Given the description of an element on the screen output the (x, y) to click on. 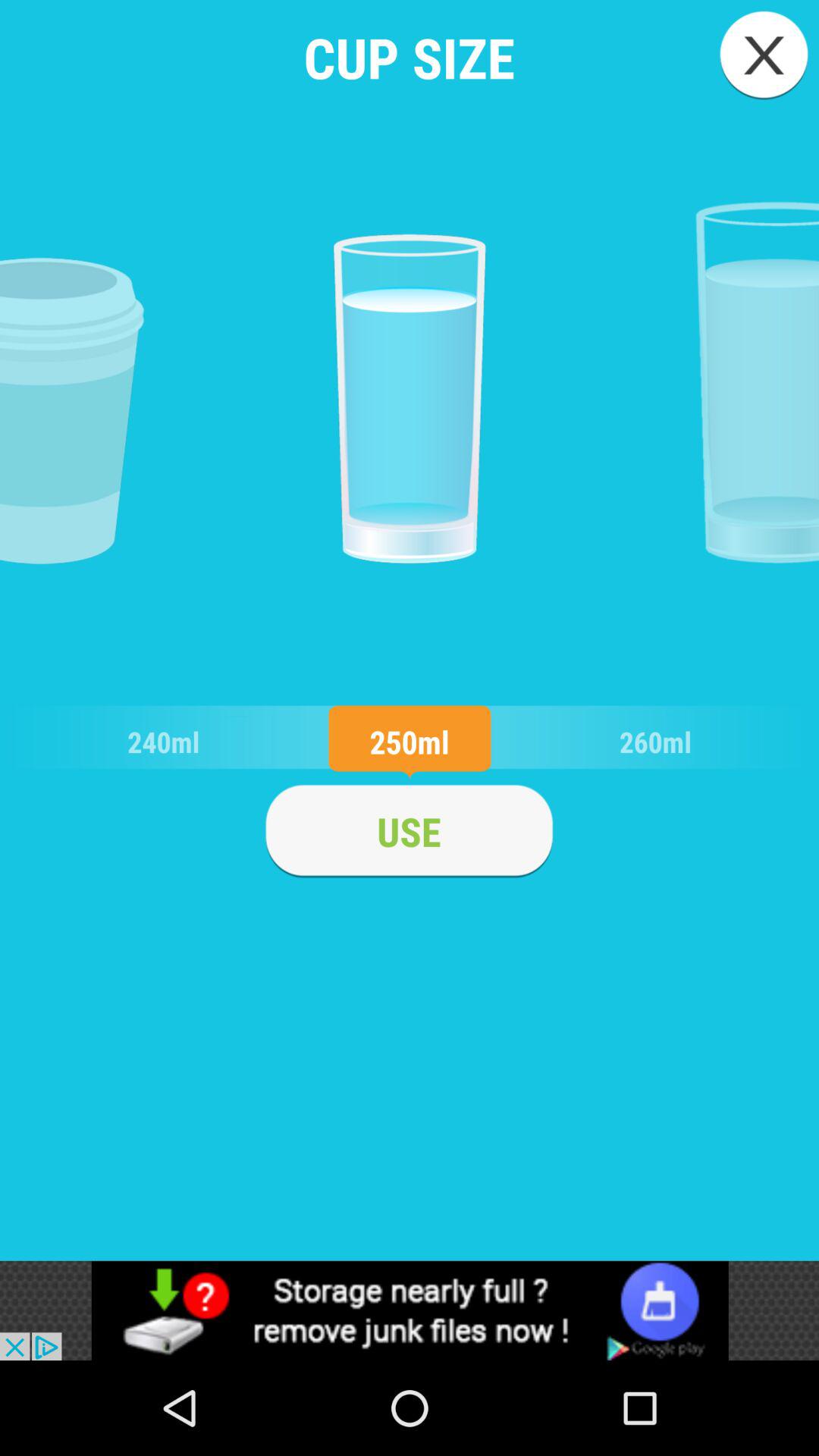
use it (408, 830)
